Given the description of an element on the screen output the (x, y) to click on. 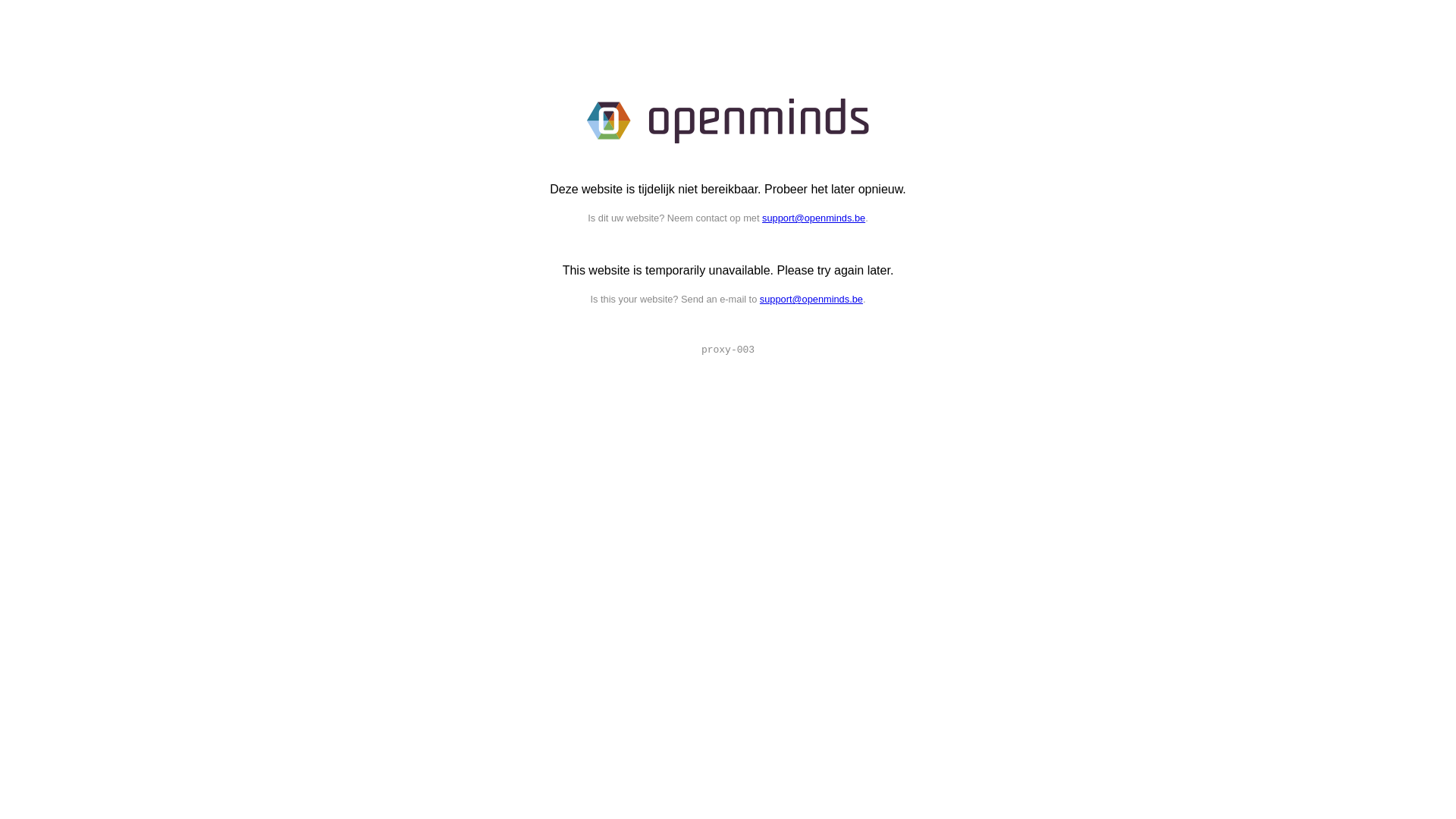
support@openminds.be Element type: text (813, 217)
support@openminds.be Element type: text (810, 298)
